Given the description of an element on the screen output the (x, y) to click on. 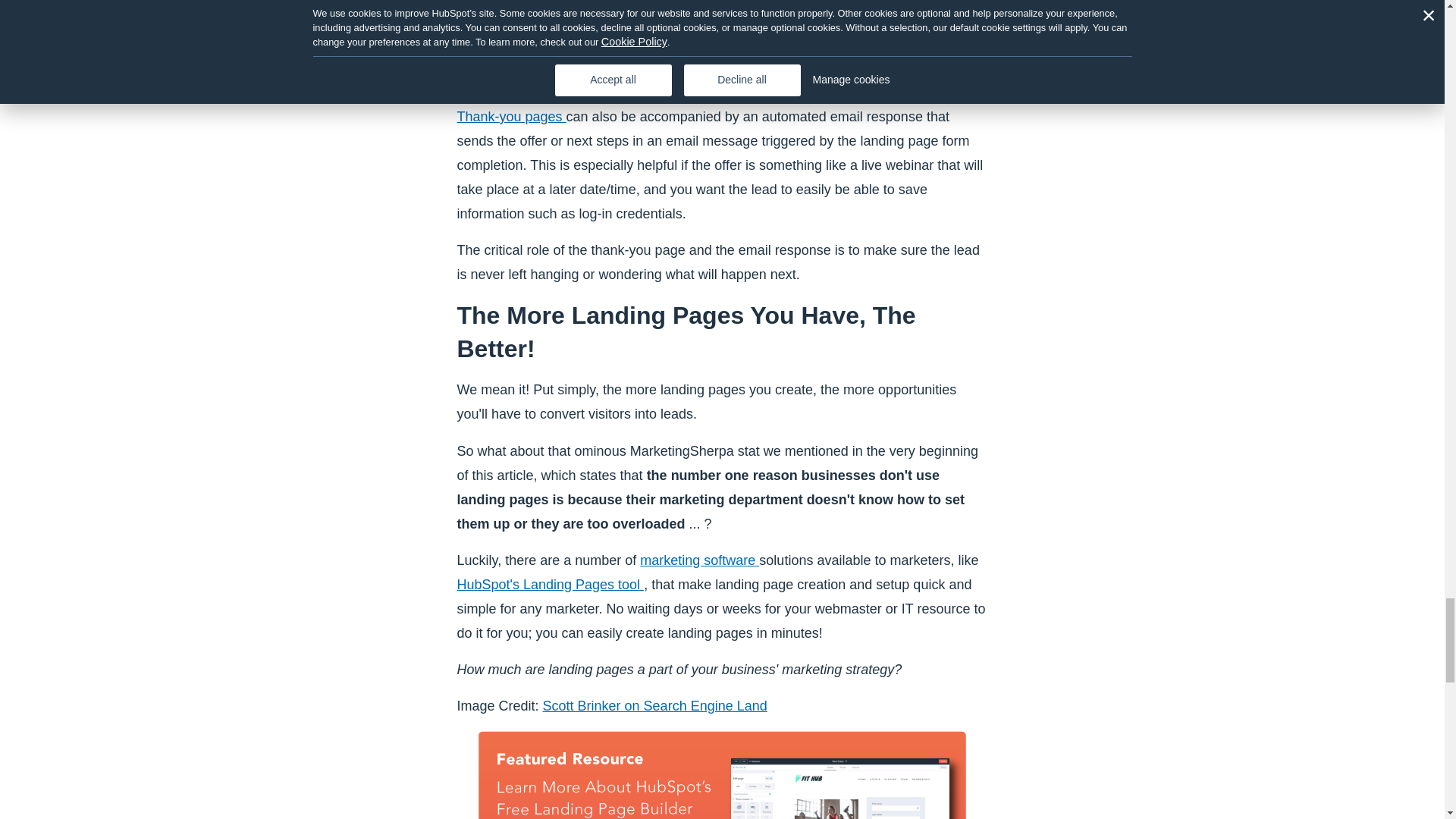
marketing software (699, 560)
Thank-you pages (511, 116)
